Given the description of an element on the screen output the (x, y) to click on. 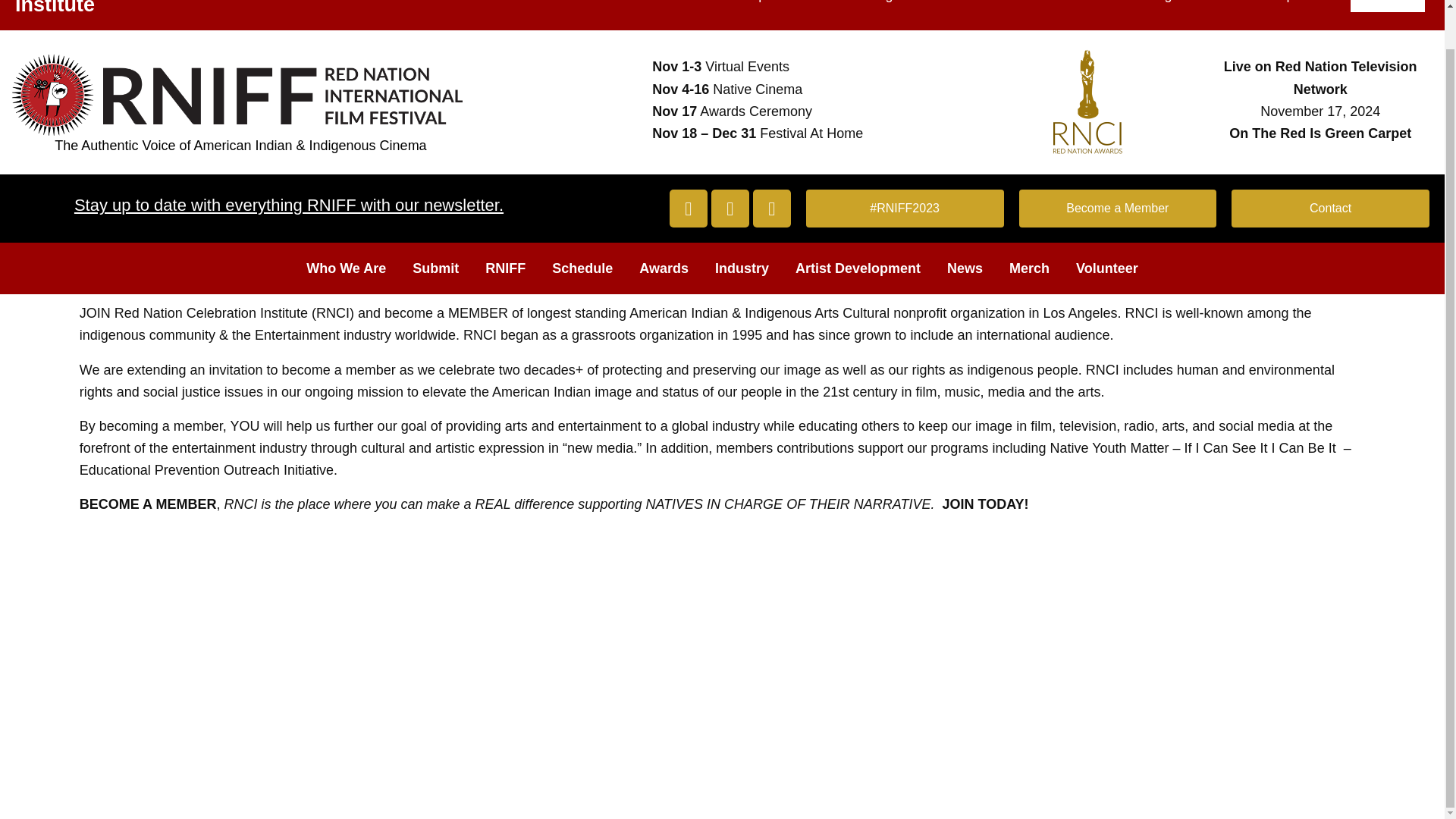
RNIFF (505, 268)
Red Nation Celebration Institute (127, 7)
Sponsors (1306, 6)
Submit (435, 268)
Events (1058, 6)
Stay up to date with everything RNIFF with our newsletter. (288, 204)
Who We Are (346, 268)
Donate (1388, 6)
Representation (786, 6)
Become a Member (1118, 208)
